Given the description of an element on the screen output the (x, y) to click on. 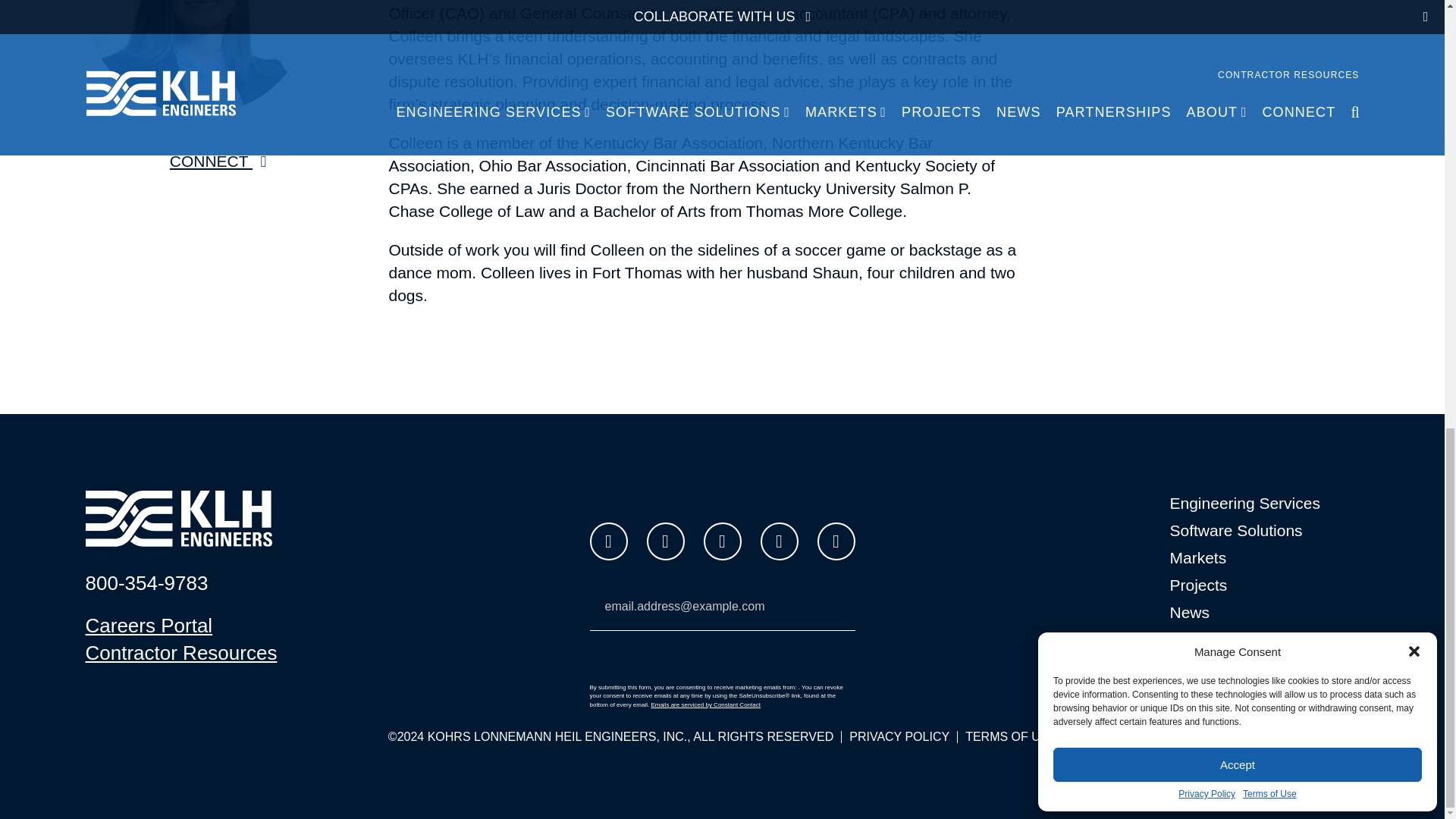
Subscribe for Updates (722, 656)
